Given the description of an element on the screen output the (x, y) to click on. 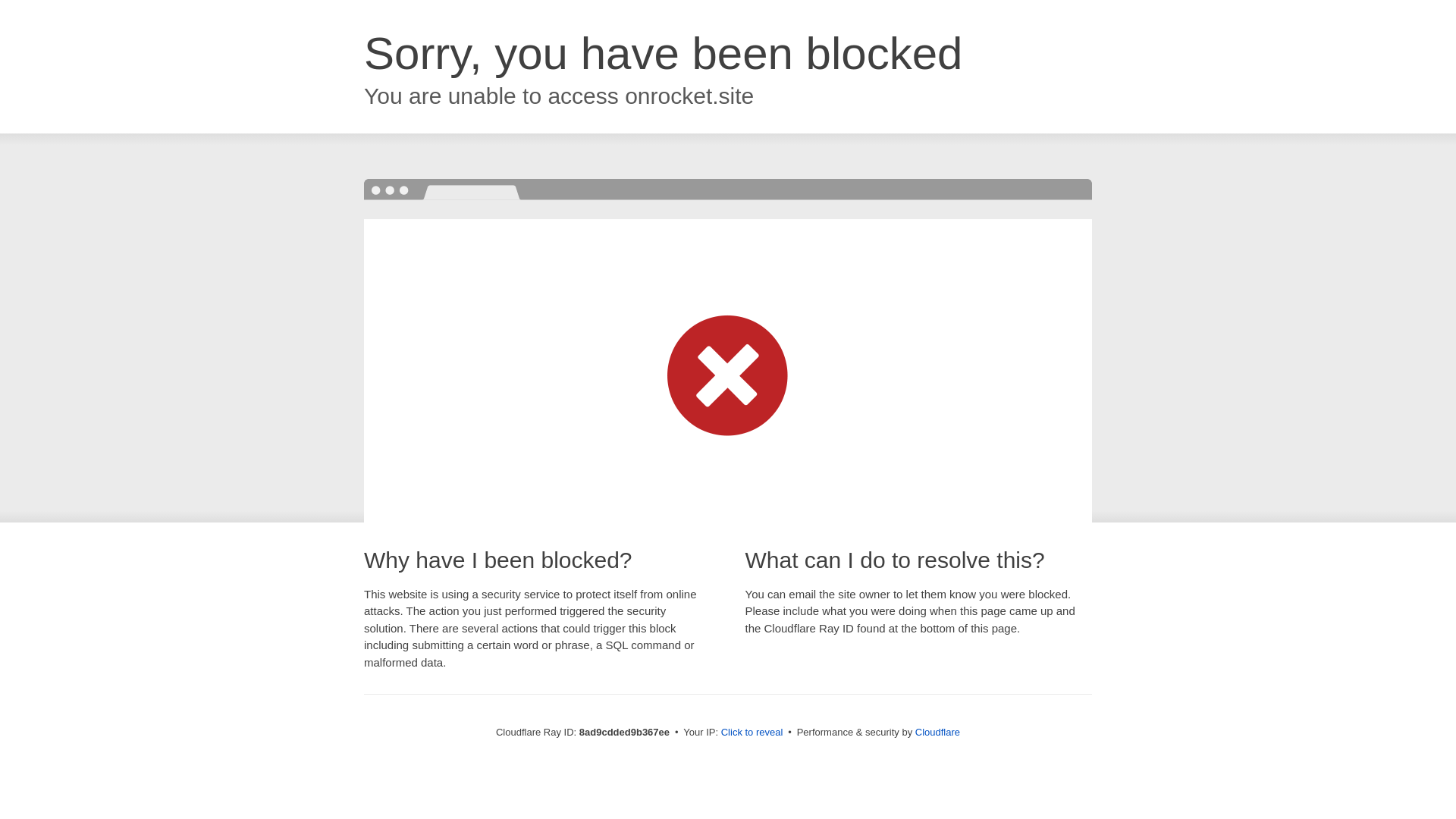
Click to reveal (751, 732)
Cloudflare (937, 731)
